Given the description of an element on the screen output the (x, y) to click on. 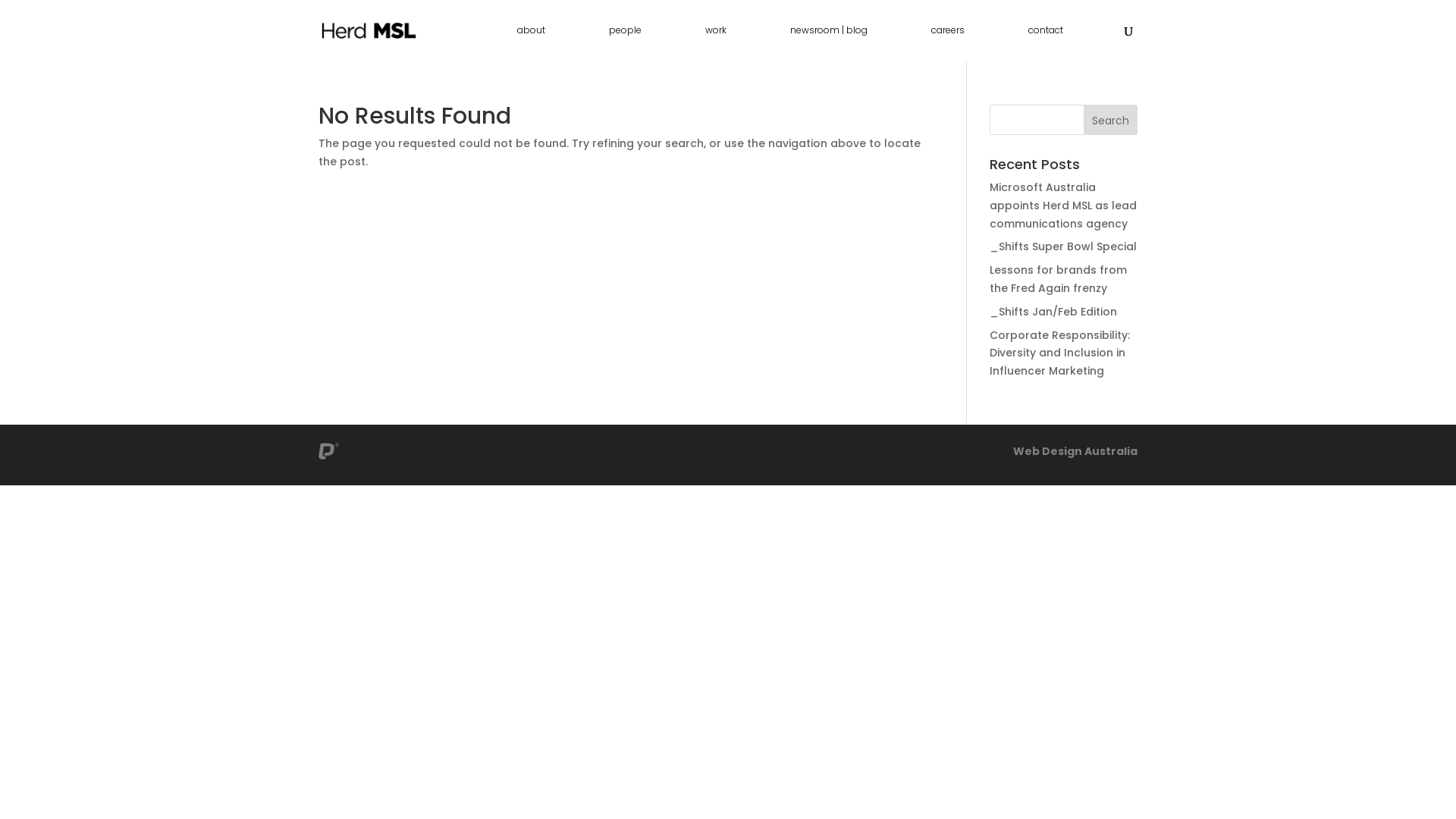
Search Element type: text (1110, 119)
_Shifts Jan/Feb Edition Element type: text (1053, 311)
about Element type: text (531, 42)
Lessons for brands from the Fred Again frenzy Element type: text (1057, 278)
psyborg Icon Element type: hover (328, 450)
_Shifts Super Bowl Special Element type: text (1062, 246)
careers Element type: text (947, 42)
newsroom | blog Element type: text (828, 42)
Web Design Australia Element type: text (1075, 450)
work Element type: text (715, 42)
contact Element type: text (1045, 42)
people Element type: text (624, 42)
